Given the description of an element on the screen output the (x, y) to click on. 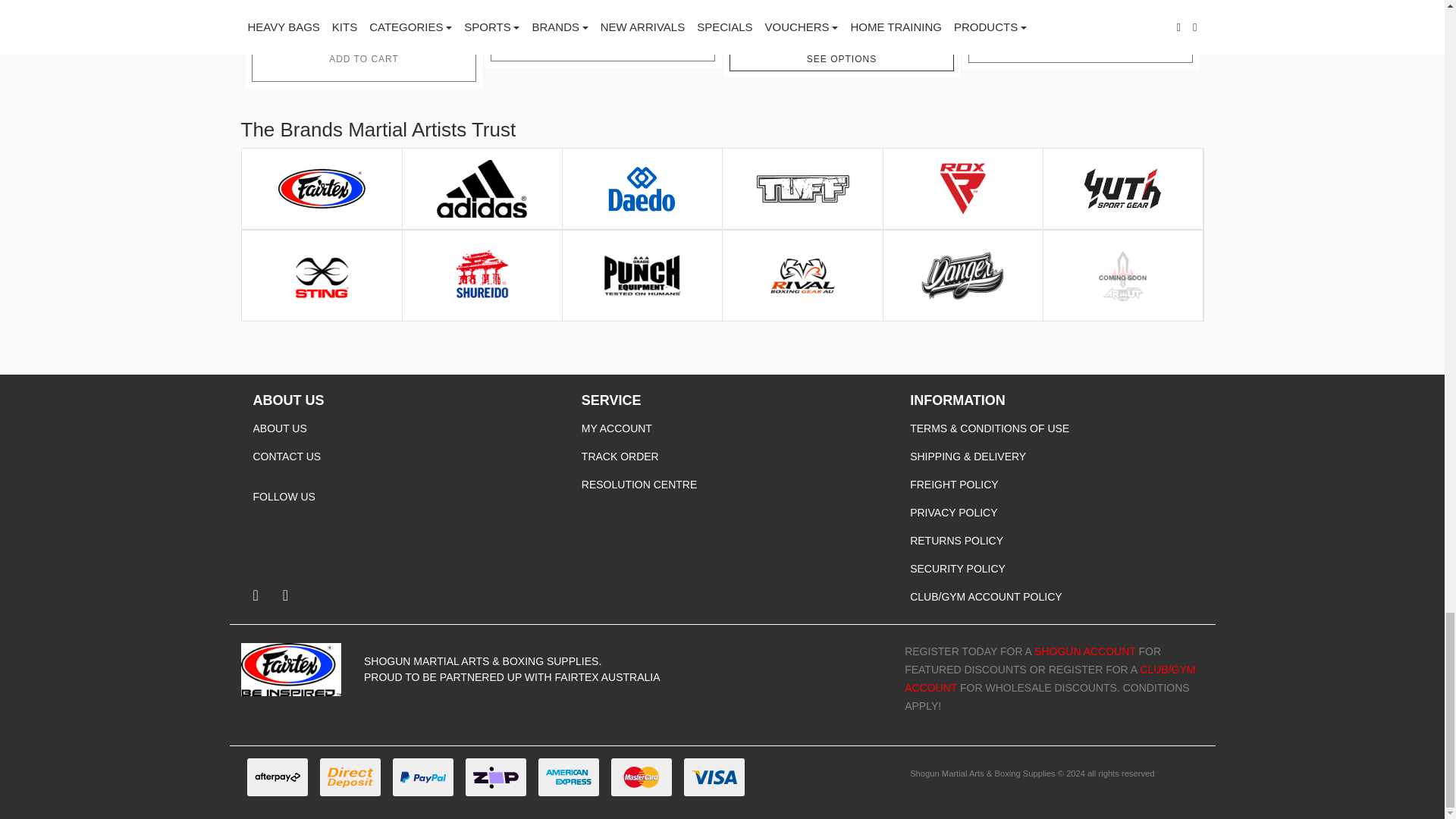
Add CSG Focus Mitts to Cart (602, 38)
